Given the description of an element on the screen output the (x, y) to click on. 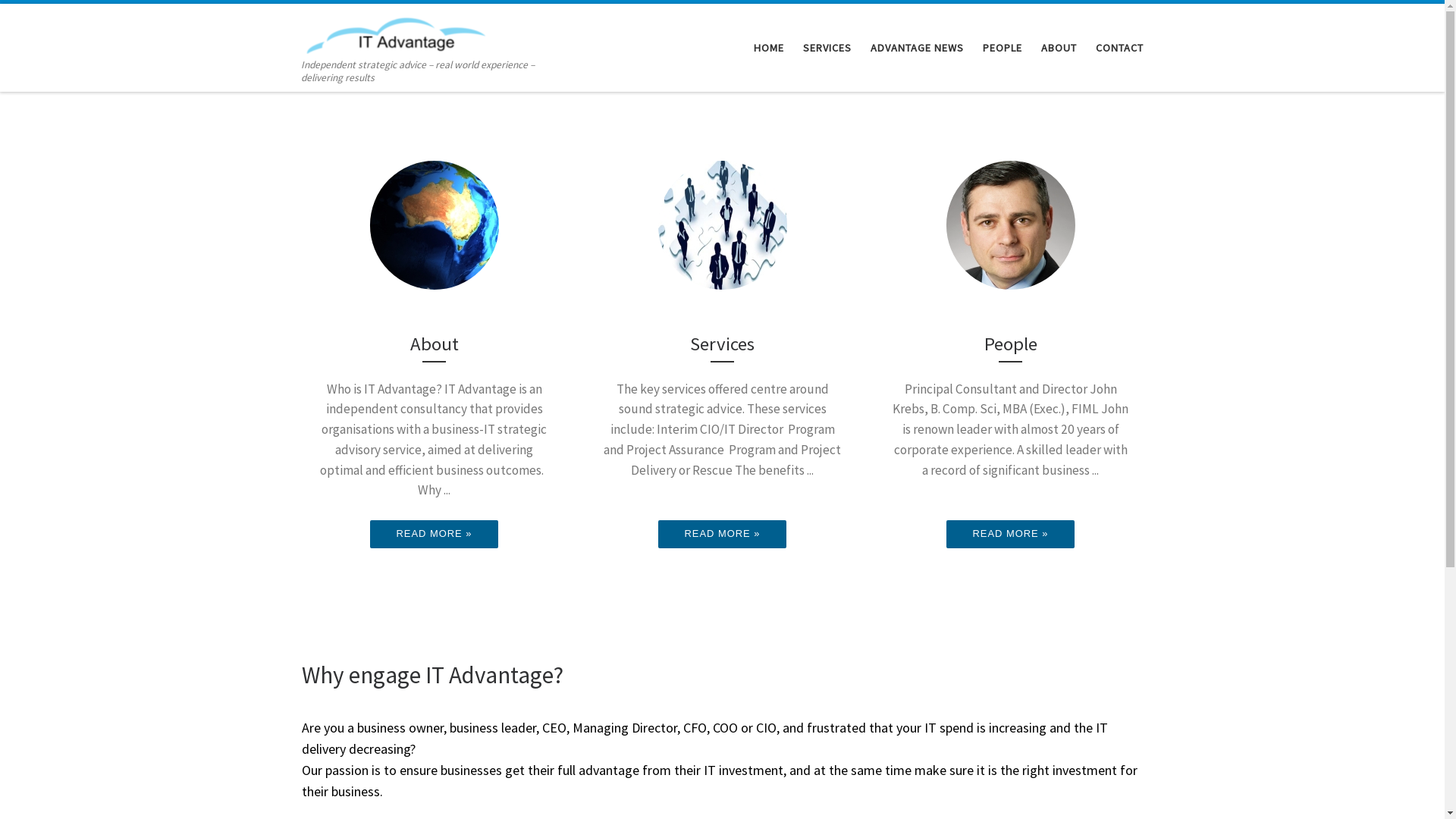
ABOUT Element type: text (1058, 47)
Skip to content Element type: text (57, 21)
ADVANTAGE NEWS Element type: text (916, 47)
PEOPLE Element type: text (1001, 47)
SERVICES Element type: text (826, 47)
CONTACT Element type: text (1119, 47)
HOME Element type: text (768, 47)
